Given the description of an element on the screen output the (x, y) to click on. 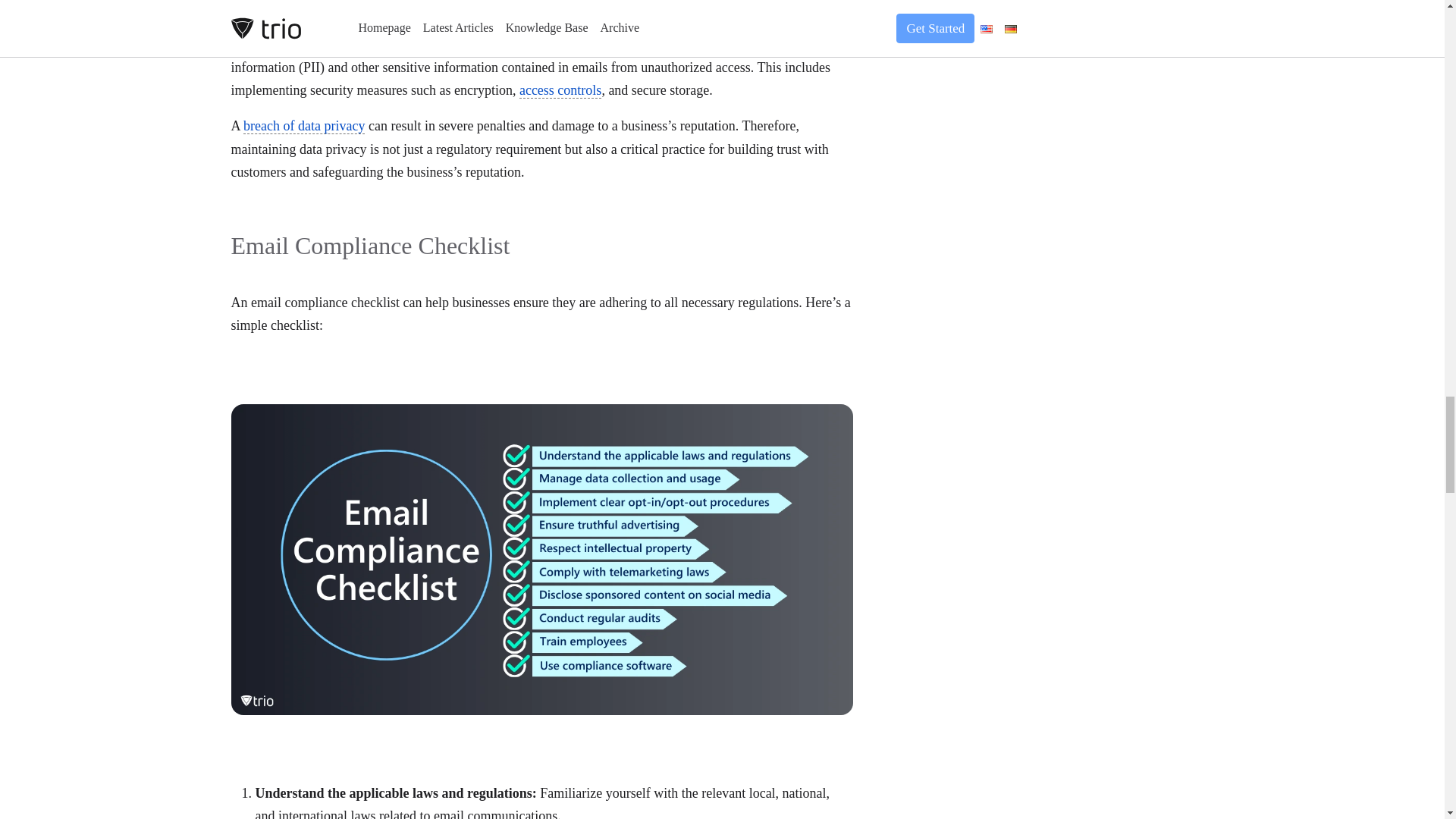
Data privacy (264, 44)
breach of data privacy (304, 125)
access controls (560, 90)
